Given the description of an element on the screen output the (x, y) to click on. 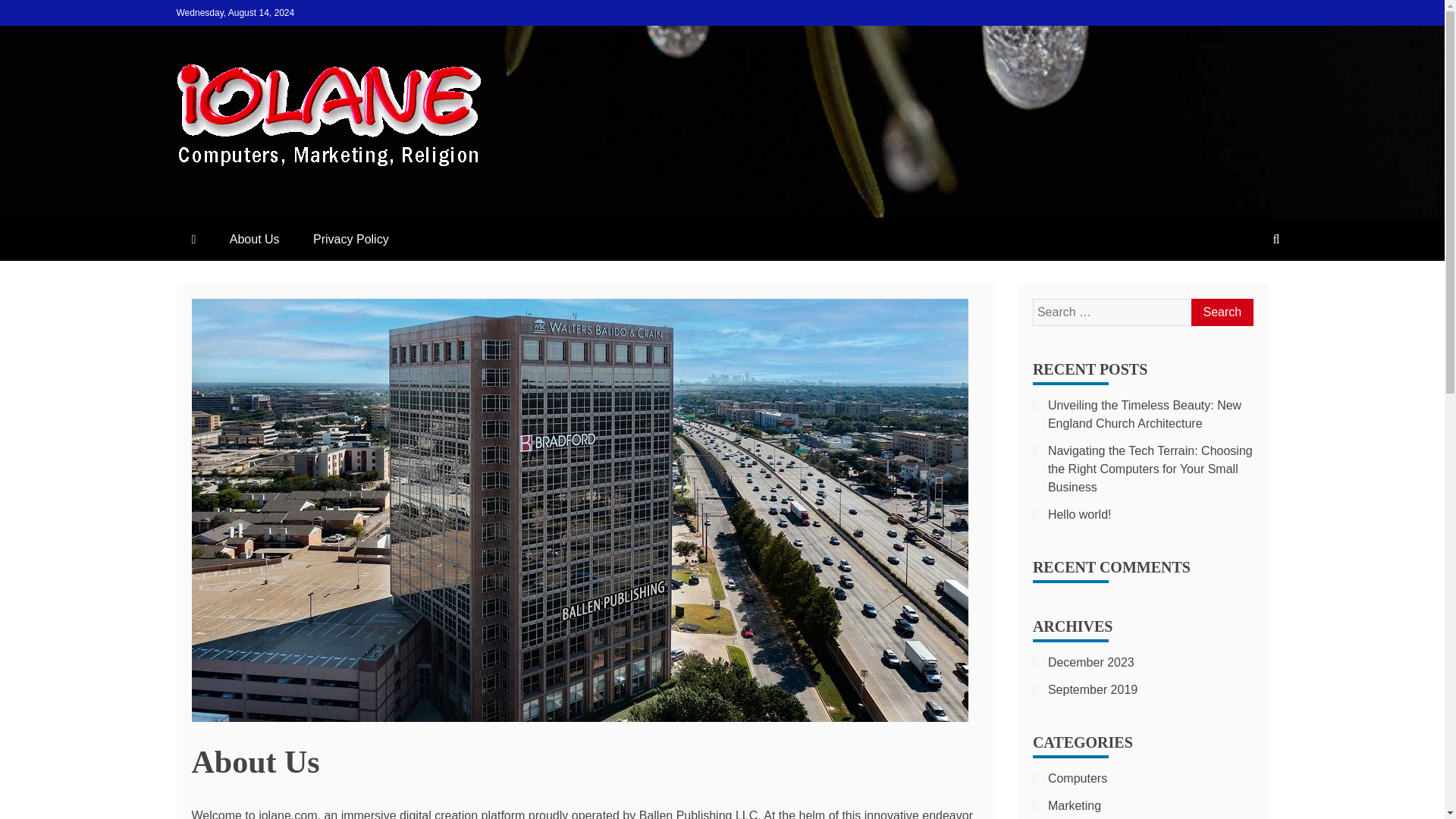
Computers (1077, 778)
Privacy Policy (351, 239)
Marketing (1074, 805)
Search (1221, 311)
September 2019 (1092, 689)
IOLane (231, 198)
Search (1221, 311)
Hello world! (1080, 513)
